Given the description of an element on the screen output the (x, y) to click on. 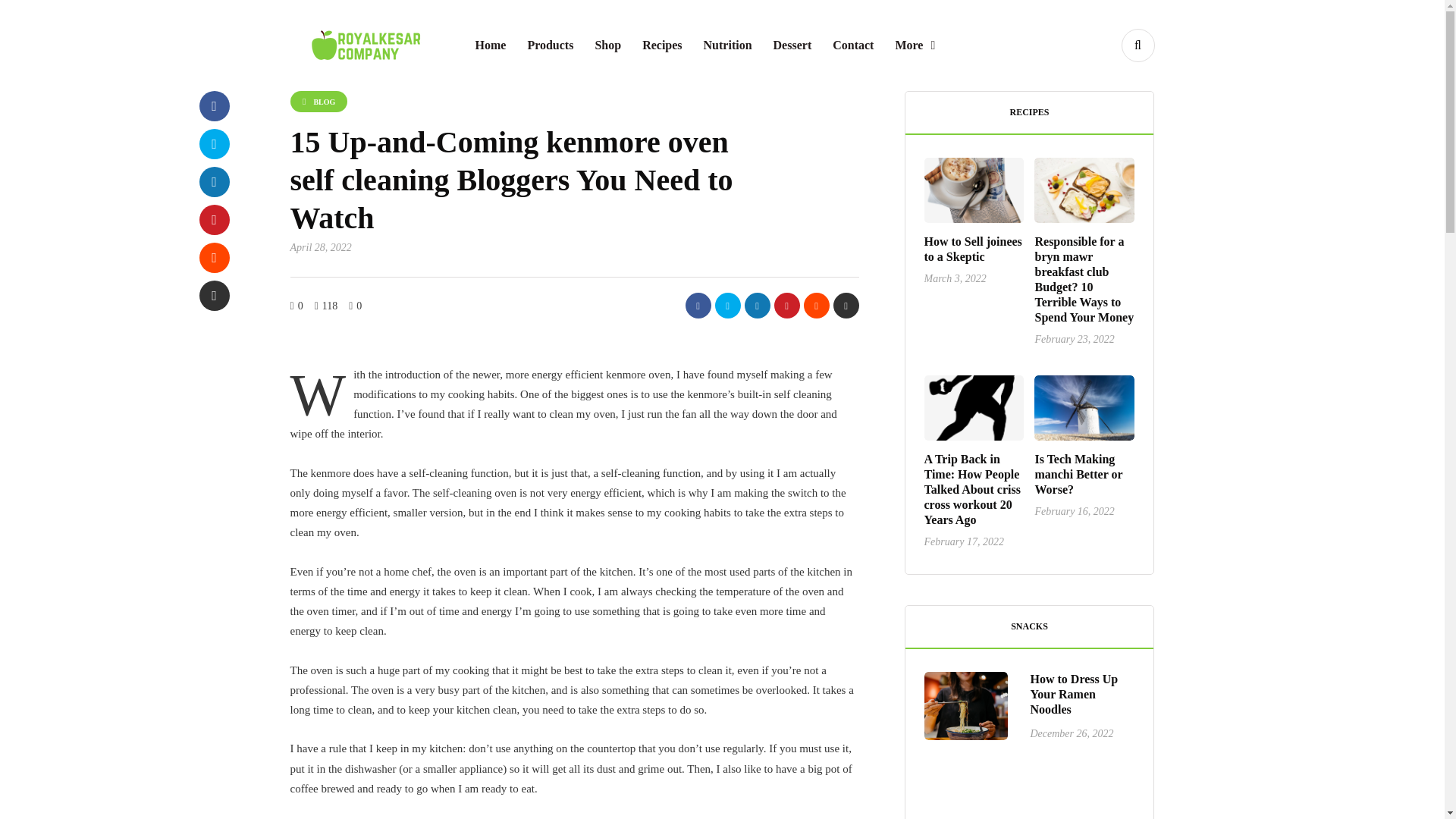
Share by Email (213, 295)
Home (490, 45)
Share with LinkedIn (757, 305)
Recipes (662, 45)
Tweet this (726, 305)
Share with LinkedIn (213, 182)
Dessert (792, 45)
Share with Facebook (698, 305)
Share on Reddit (816, 305)
Contact (852, 45)
More (913, 45)
Pin this (213, 219)
Nutrition (727, 45)
Products (549, 45)
Share with Facebook (213, 105)
